Given the description of an element on the screen output the (x, y) to click on. 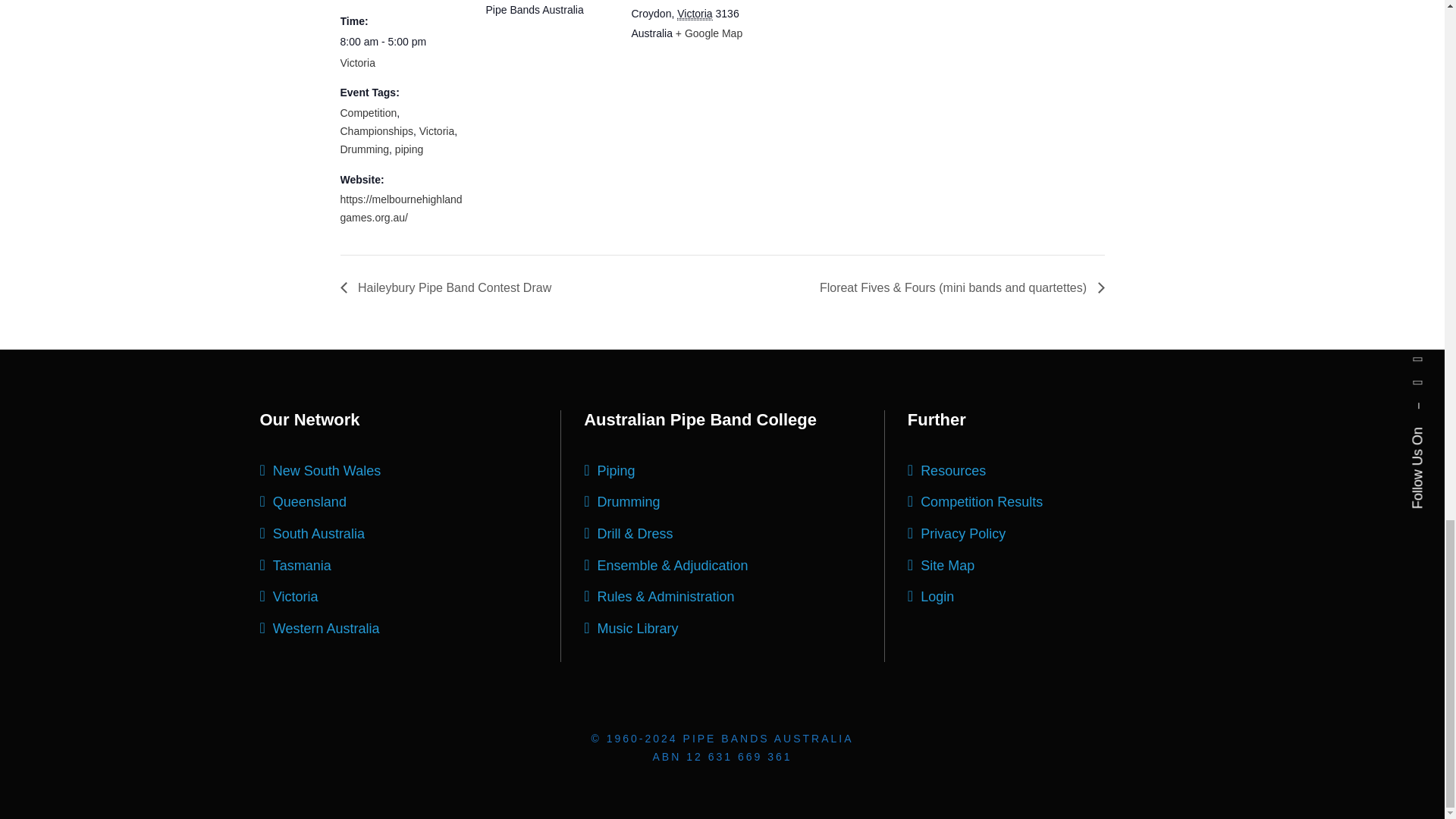
Click to view a Google Map (708, 33)
2024-03-24 (403, 42)
Victoria (694, 13)
